Given the description of an element on the screen output the (x, y) to click on. 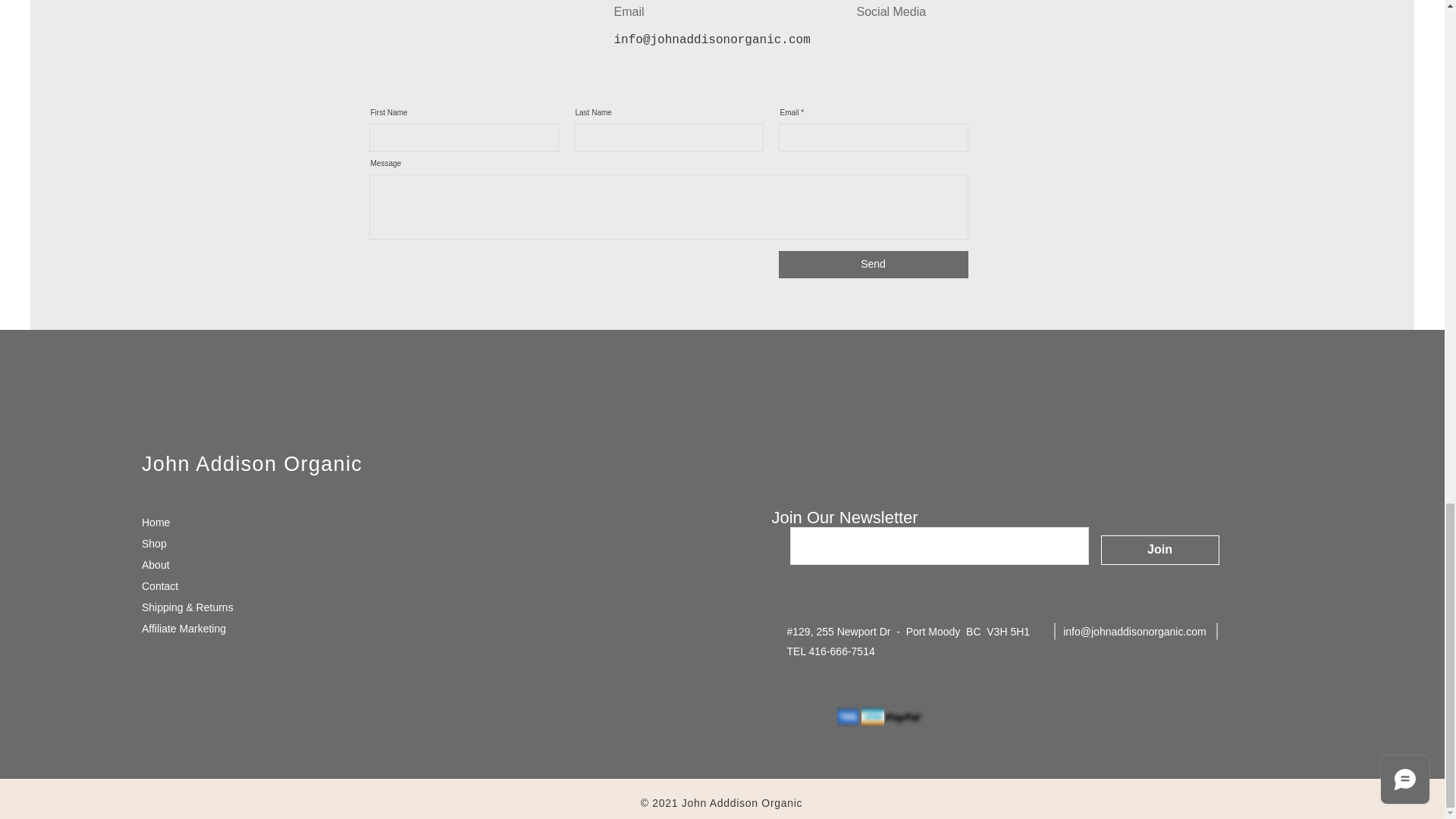
Send (872, 264)
Home (155, 522)
Shop (154, 543)
Join (1160, 550)
Contact (159, 585)
About (155, 564)
John Addison Organic (251, 463)
Affiliate Marketing (183, 628)
